Given the description of an element on the screen output the (x, y) to click on. 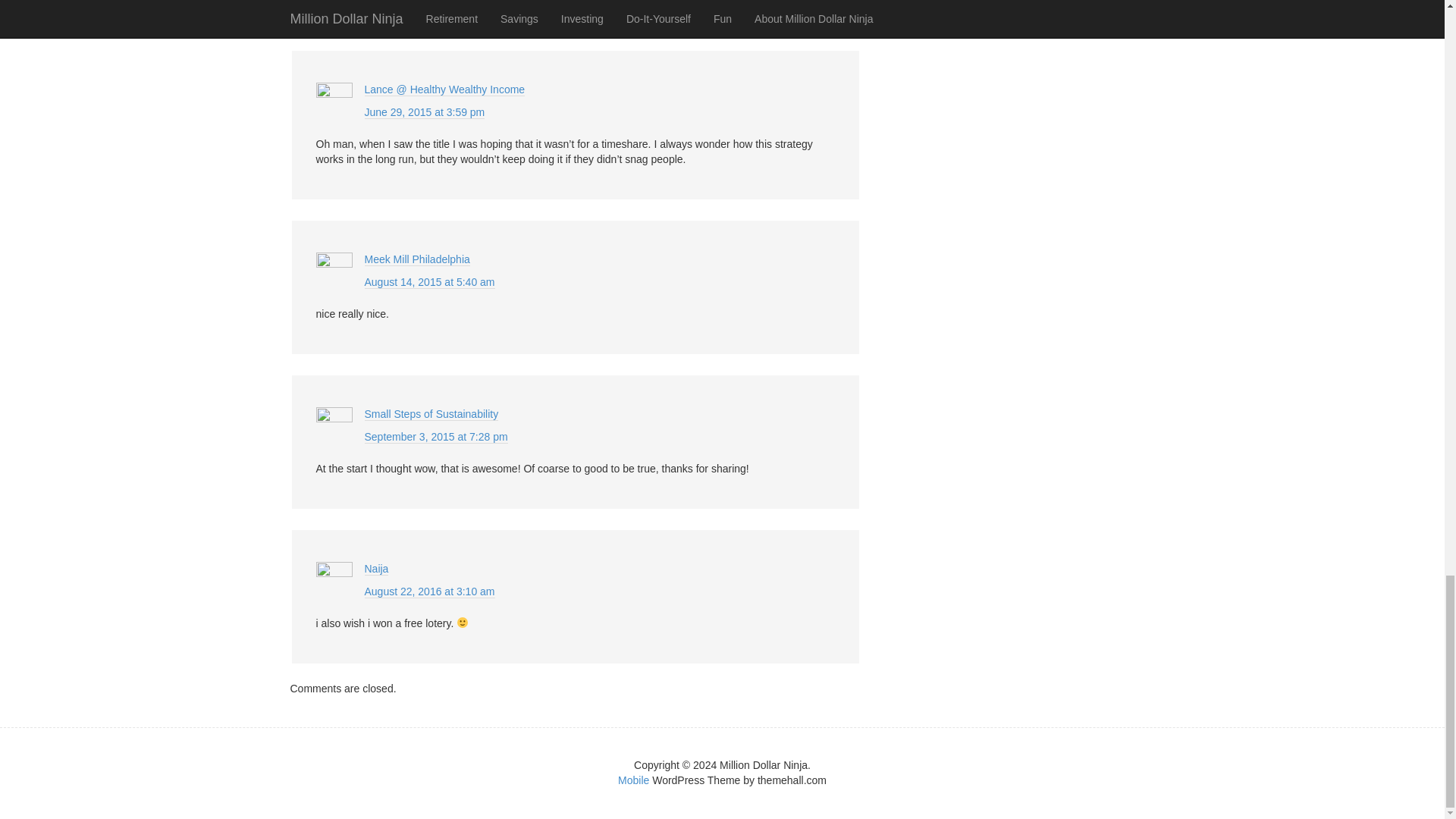
Meek Mill Philadelphia (416, 259)
Small Steps of Sustainability (430, 413)
Naija (376, 568)
August 14, 2015 at 5:40 am (429, 282)
August 22, 2016 at 3:10 am (429, 591)
September 3, 2015 at 7:28 pm (435, 436)
June 29, 2015 at 3:59 pm (424, 112)
